Given the description of an element on the screen output the (x, y) to click on. 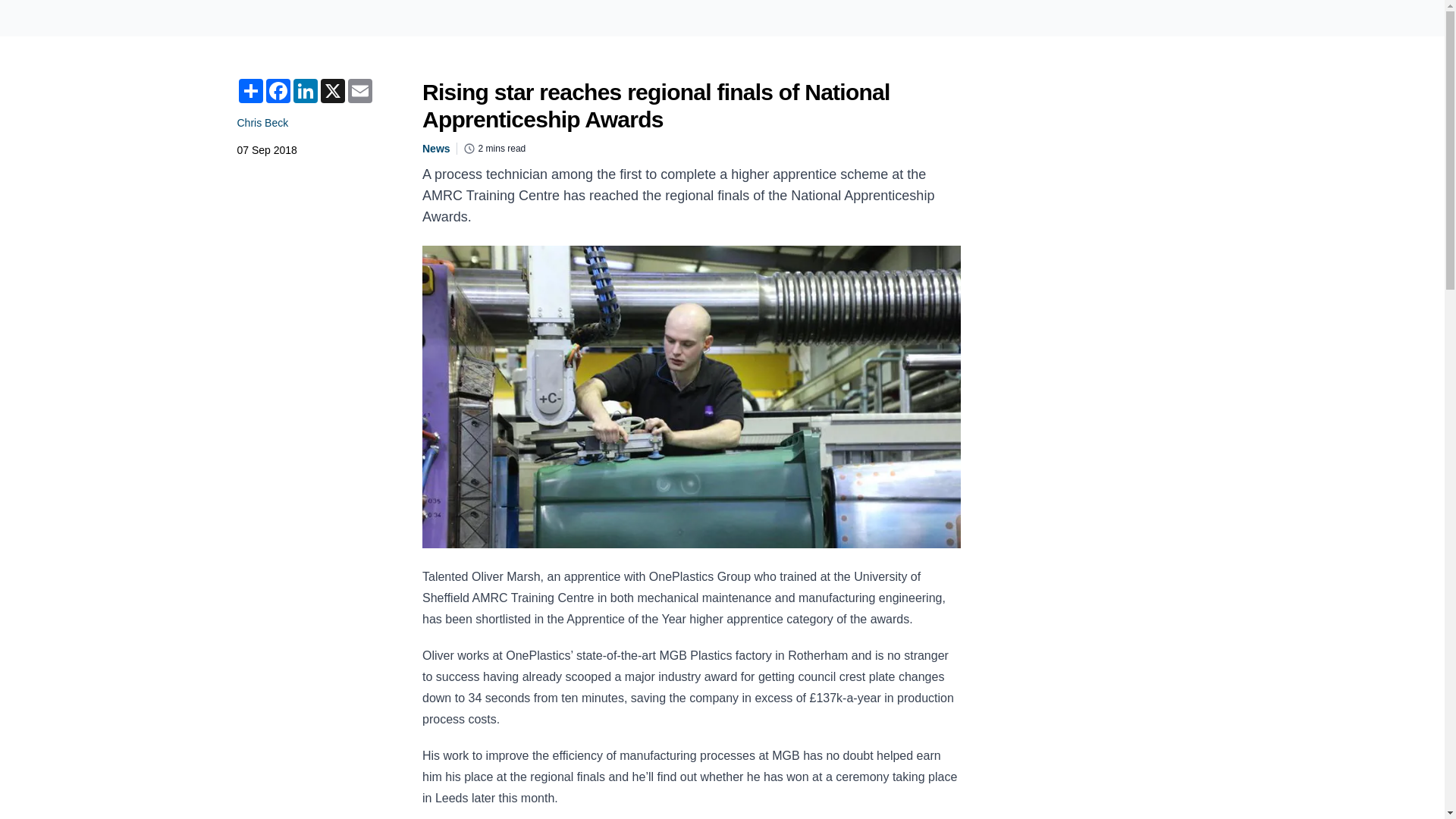
LinkedIn (304, 90)
X (332, 90)
News (435, 148)
Chris Beck (261, 122)
Email (359, 90)
Facebook (277, 90)
